Given the description of an element on the screen output the (x, y) to click on. 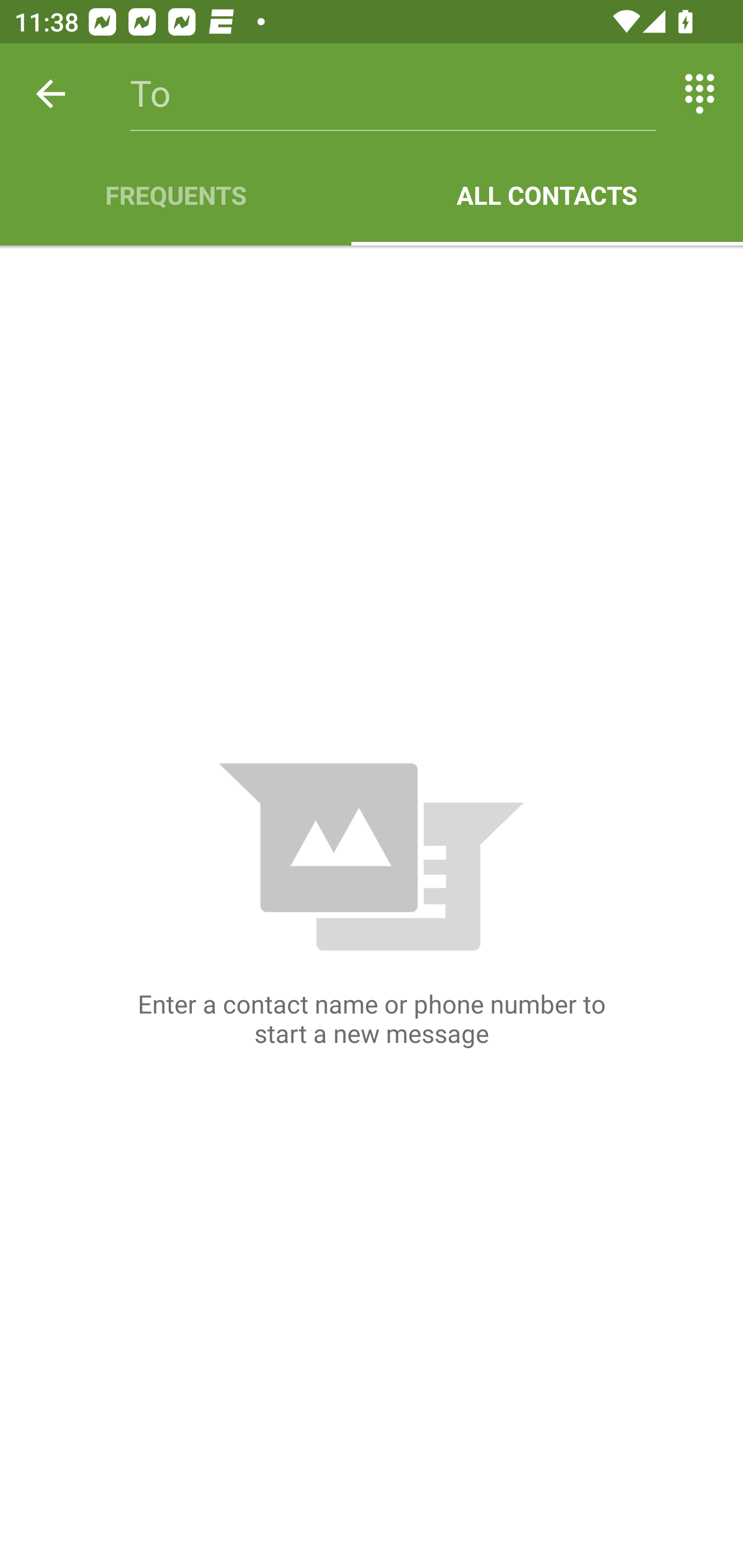
Back (50, 93)
Switch between entering text and numbers (699, 93)
To (393, 93)
FREQUENTS (175, 195)
ALL CONTACTS (547, 195)
